Given the description of an element on the screen output the (x, y) to click on. 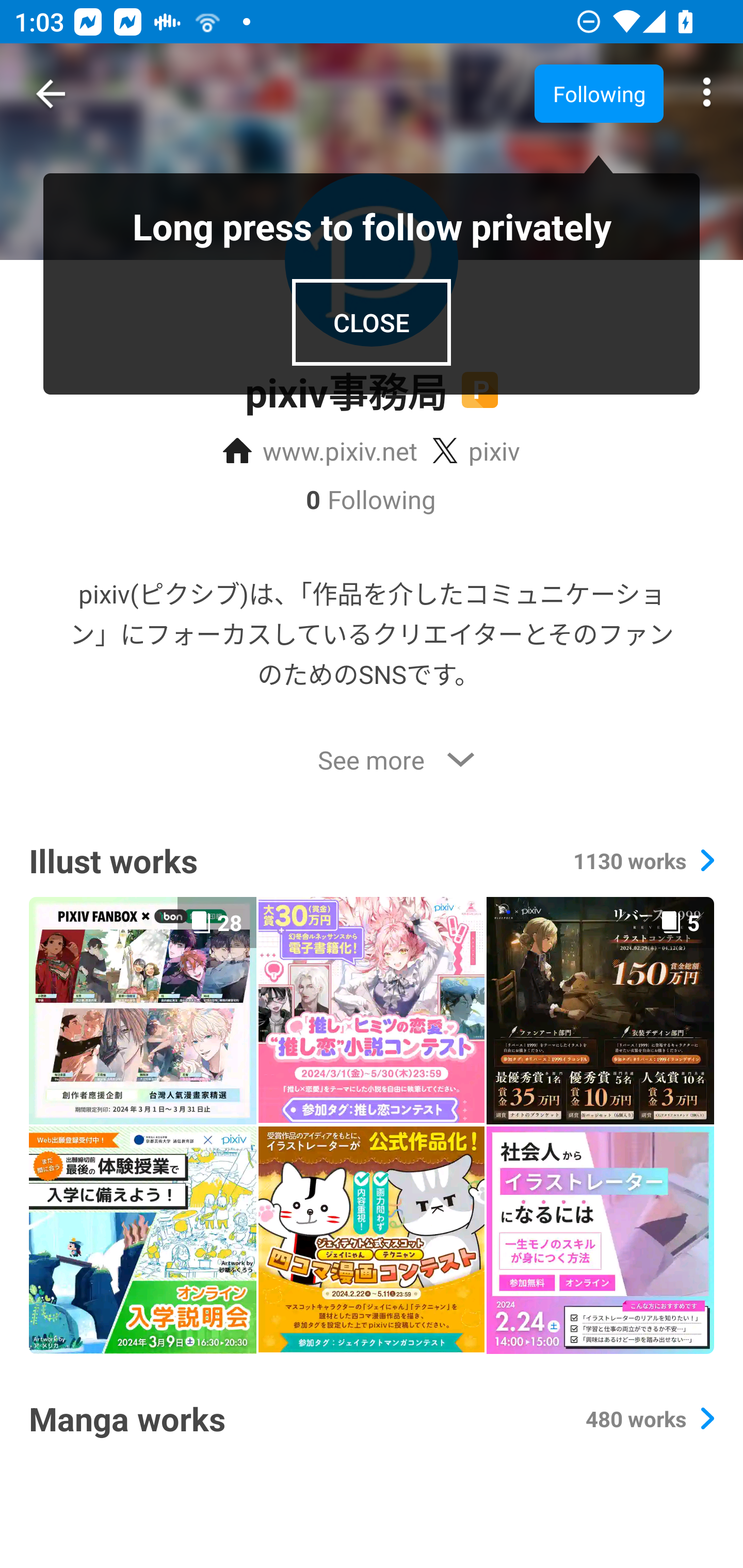
Navigate up (50, 93)
More options (706, 93)
Following (598, 93)
CLOSE (371, 322)
www.pixiv.net (319, 450)
pixiv (476, 450)
0 Following (371, 498)
See more (371, 760)
1130 works (643, 859)
28 (142, 1010)
5 (600, 1010)
480 works (649, 1418)
